Given the description of an element on the screen output the (x, y) to click on. 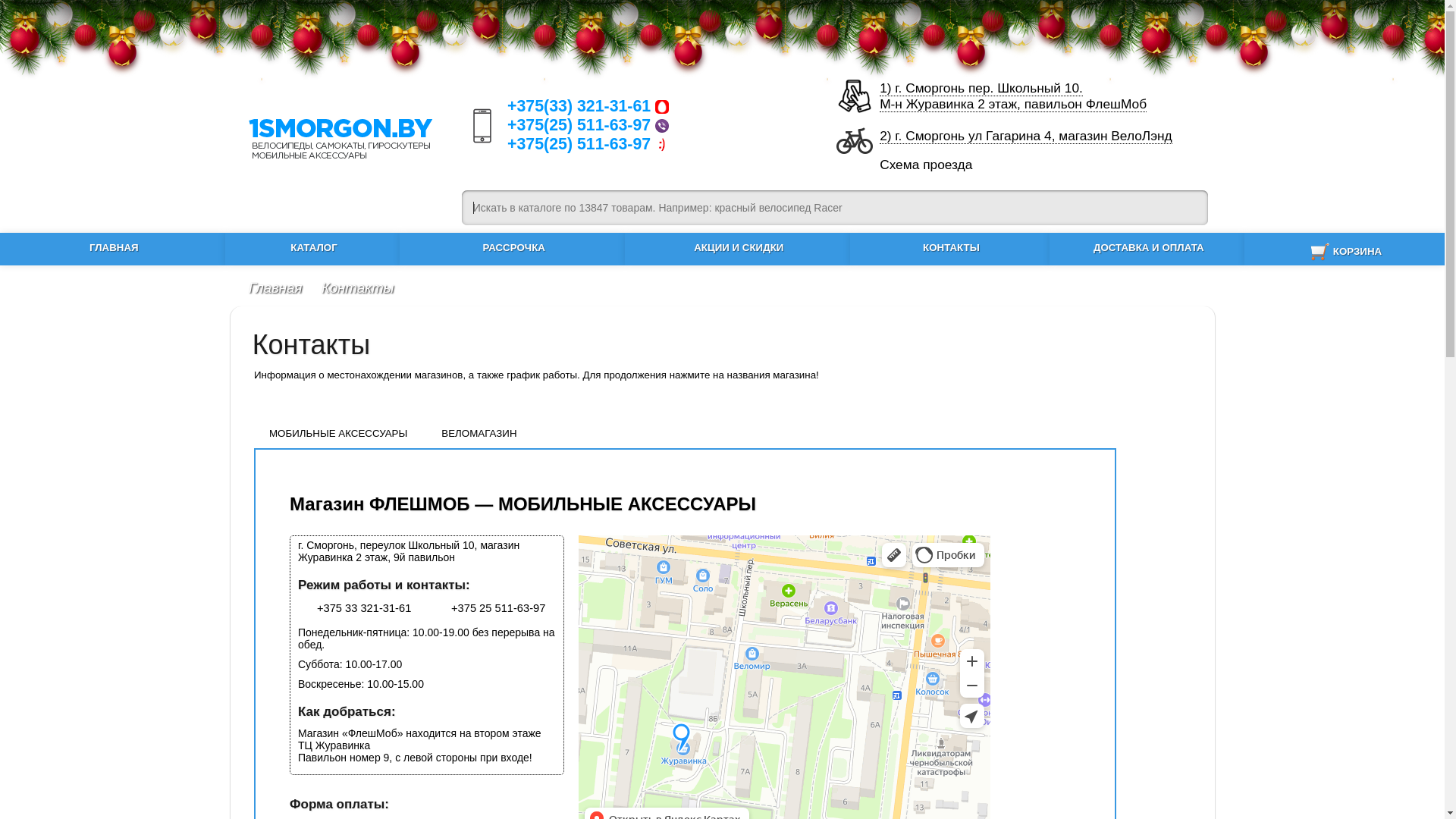
+375 25 511-63-97 Element type: text (488, 607)
+375 33 321-31-61 Element type: text (354, 607)
